Given the description of an element on the screen output the (x, y) to click on. 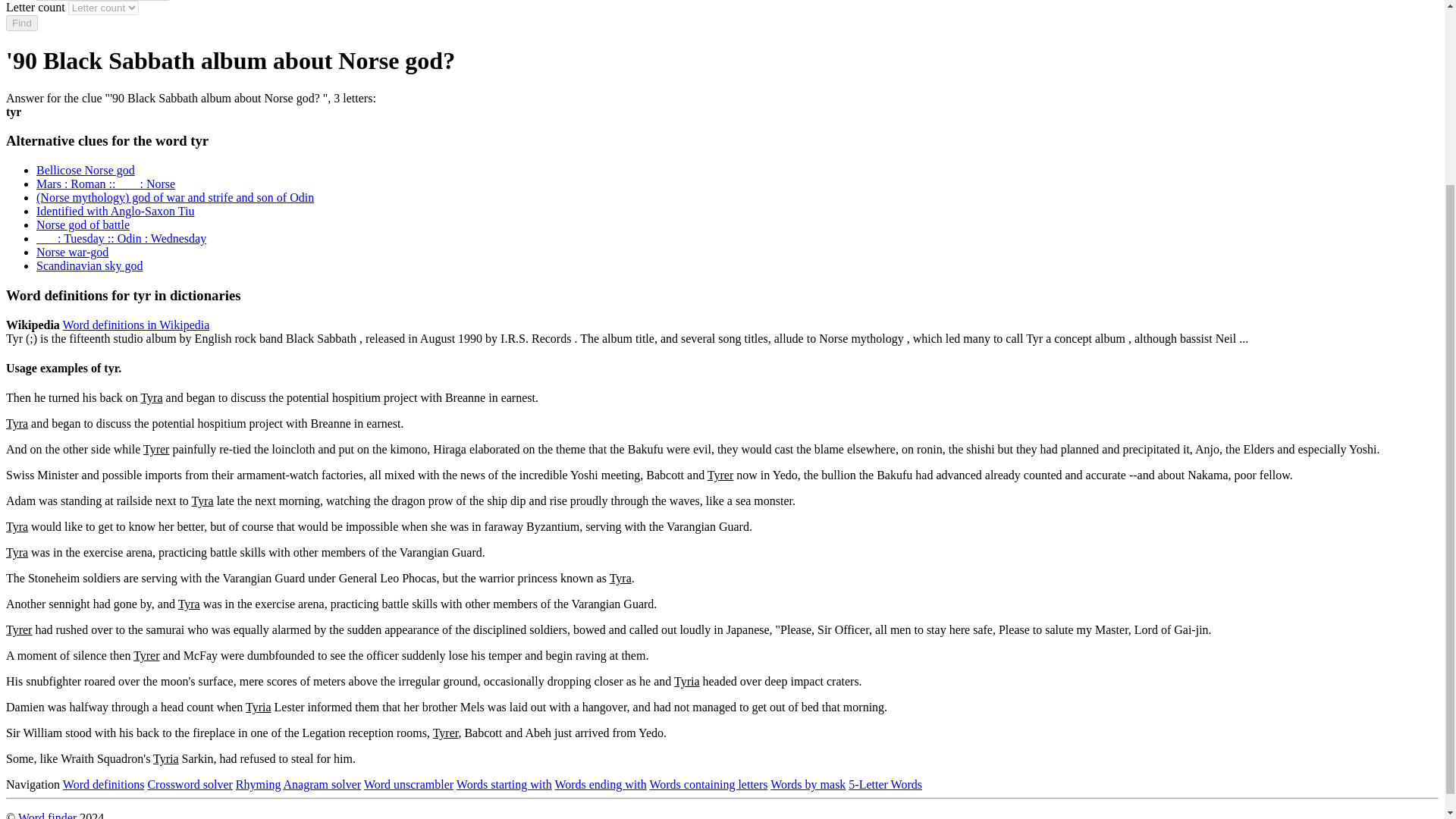
Words containing letters (708, 784)
Words by mask (807, 784)
Norse war-god (71, 251)
Words ending with (600, 784)
Scandinavian sky god (89, 265)
Bellicose Norse god (85, 169)
Word definitions in Wikipedia (135, 324)
Anagram solver (322, 784)
Identified with Anglo-Saxon Tiu (114, 210)
Norse god of battle (82, 224)
Words starting with (504, 784)
Crossword solver (189, 784)
Find (21, 23)
Word definitions (103, 784)
